Given the description of an element on the screen output the (x, y) to click on. 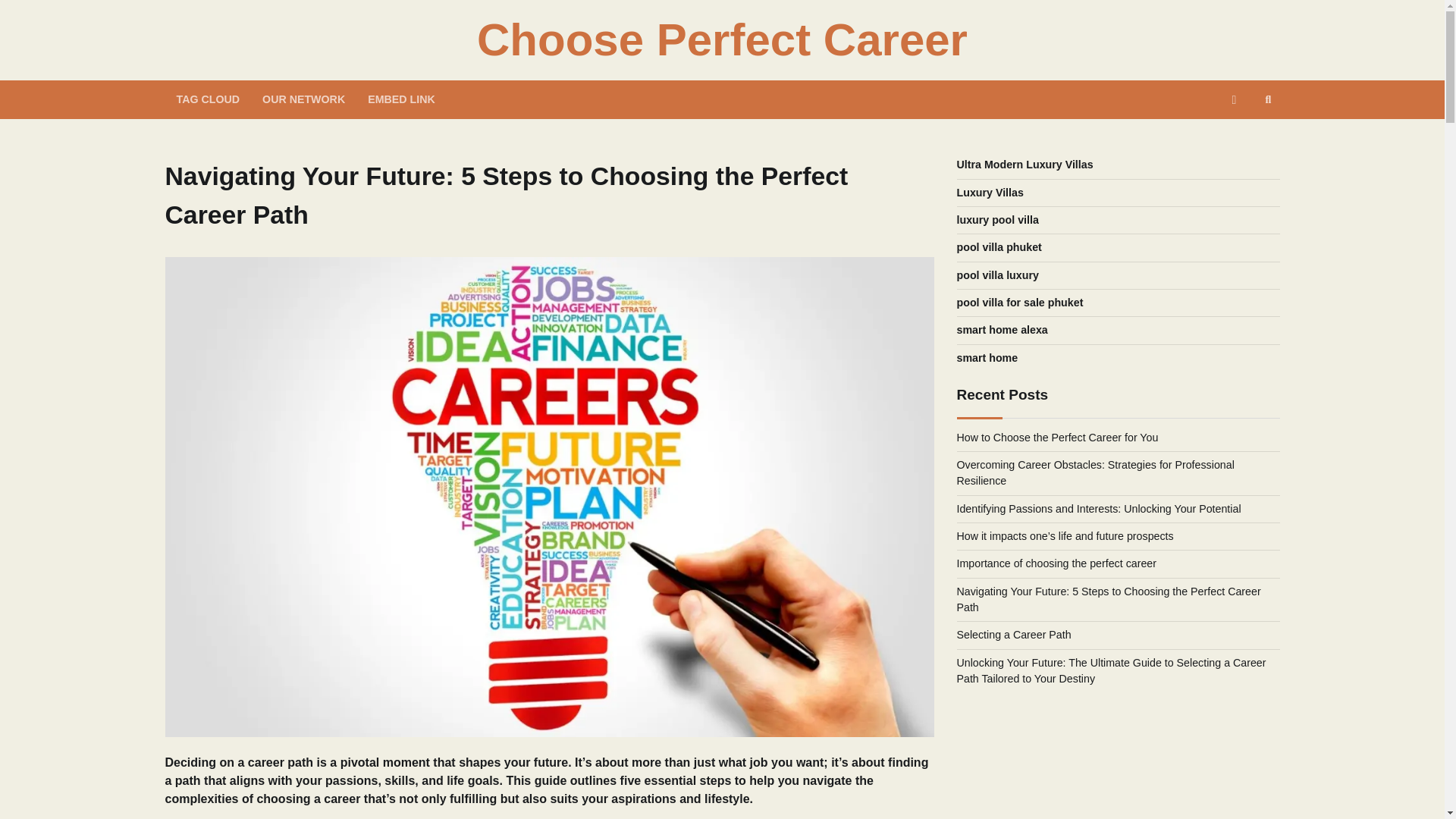
Ultra Modern Luxury Villas (1024, 164)
pool villa for sale phuket (1019, 302)
EMBED LINK (401, 99)
Search (1240, 138)
Search (1268, 99)
luxury pool villa (997, 219)
Luxury Villas (989, 192)
OUR NETWORK (303, 99)
pool villa phuket (999, 246)
smart home alexa (1002, 329)
